Given the description of an element on the screen output the (x, y) to click on. 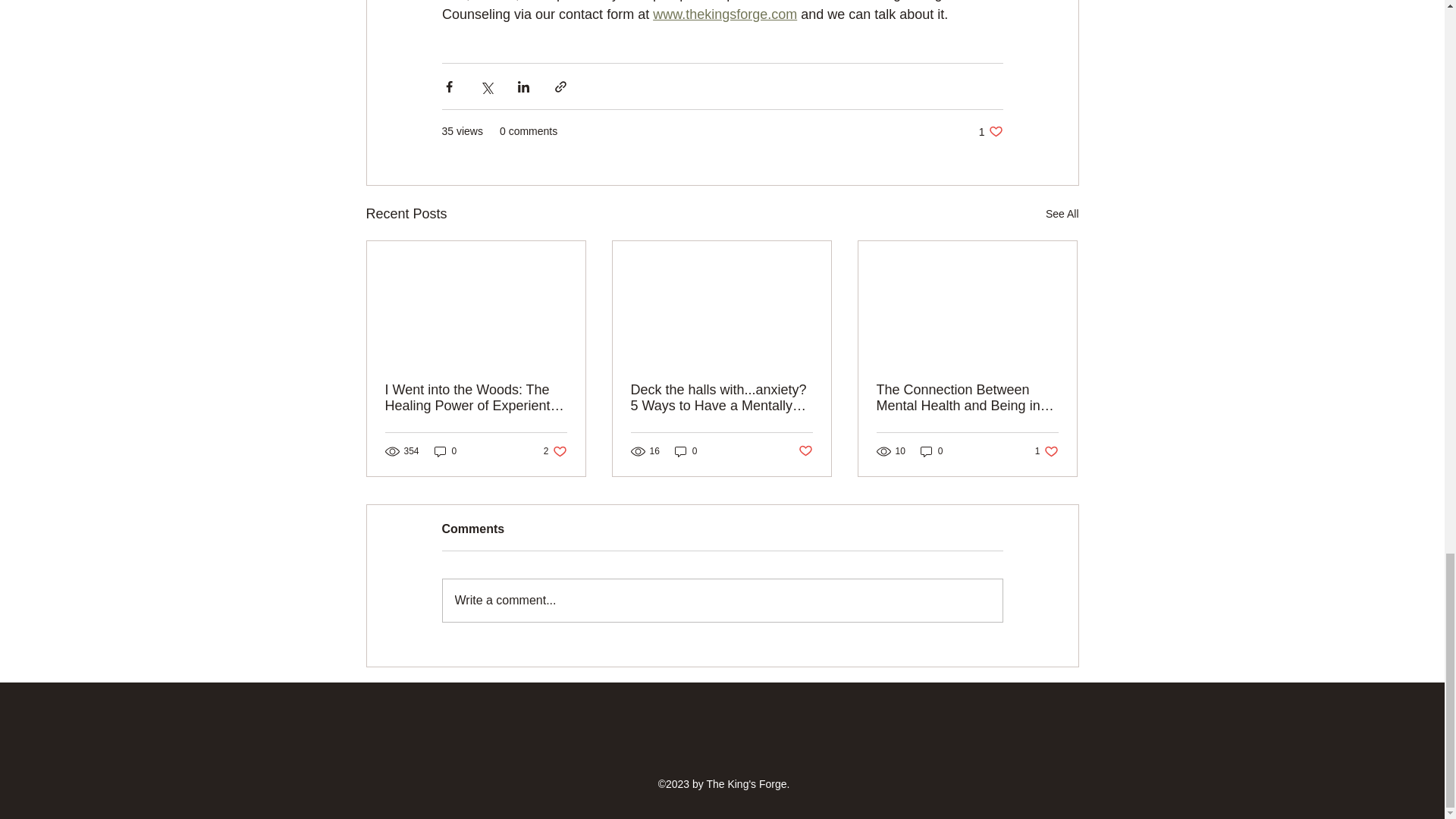
Write a comment... (722, 600)
The Connection Between Mental Health and Being in the Woods (967, 398)
0 (445, 451)
Post not marked as liked (1046, 451)
0 (804, 450)
www.thekingsforge.com (931, 451)
See All (724, 14)
0 (990, 131)
